Given the description of an element on the screen output the (x, y) to click on. 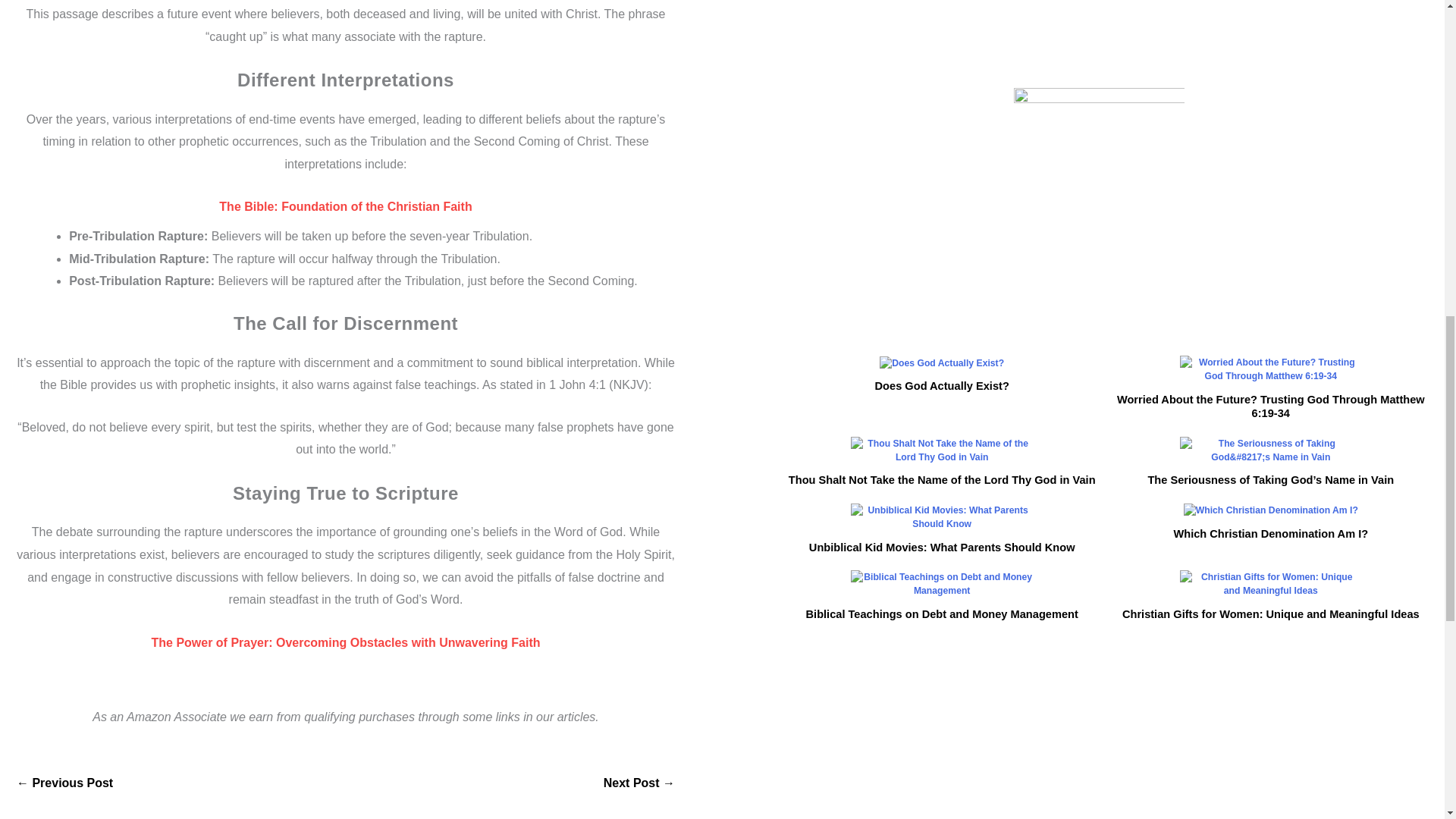
Thou Shalt Not Take the Name of the Lord Thy God in Vain (941, 479)
Does God Actually Exist? (941, 386)
The Bible: Foundation of the Christian Faith (345, 205)
